Given the description of an element on the screen output the (x, y) to click on. 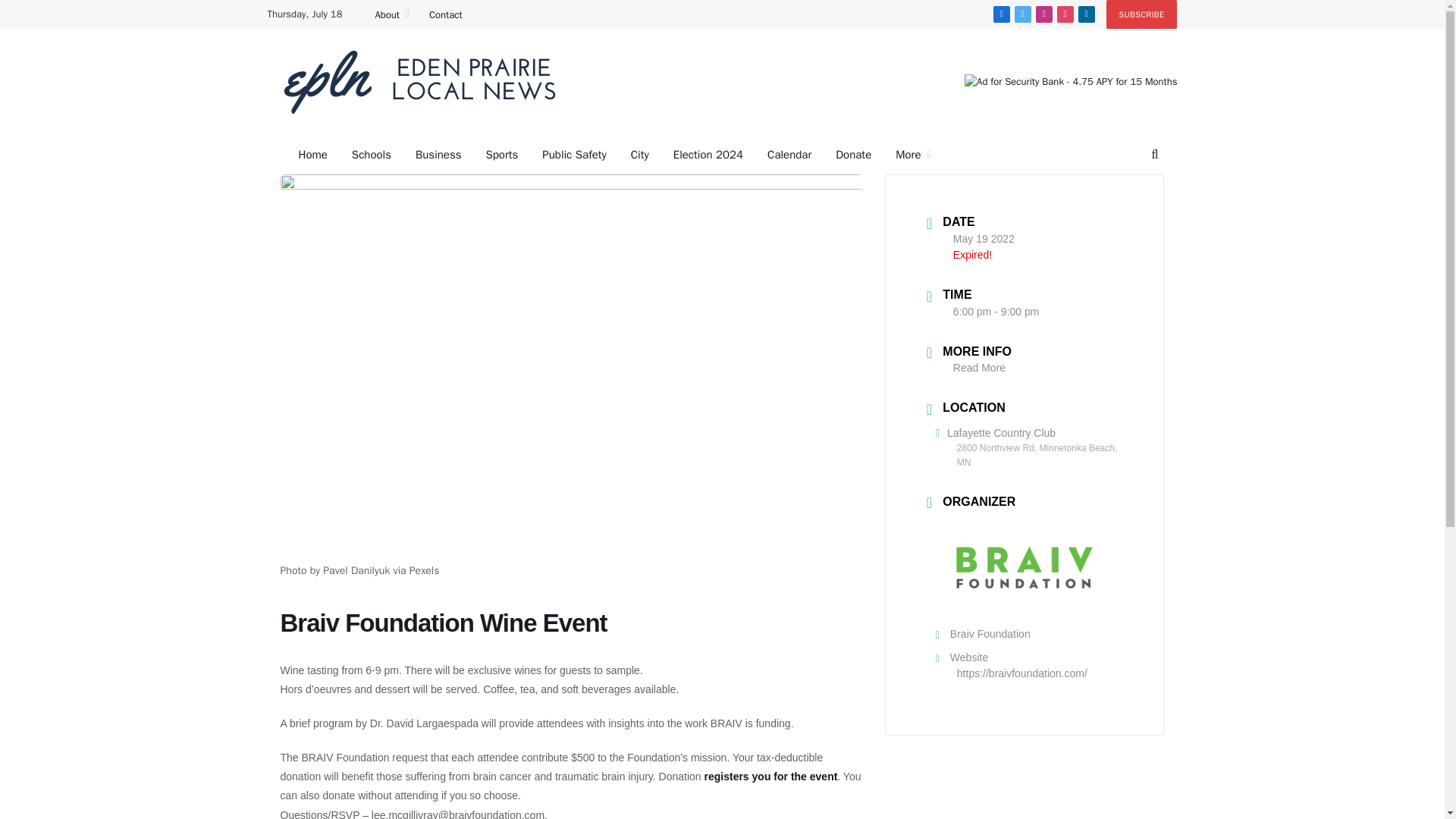
More (912, 154)
Contact (445, 14)
Calendar (789, 154)
Donate (853, 154)
Facebook (1001, 13)
Eden Prairie Local News (418, 81)
SUBSCRIBE (1141, 14)
Sports (501, 154)
LinkedIn (1086, 13)
Business (438, 154)
Election 2024 (708, 154)
About (392, 14)
Instagram (1043, 13)
Schools (371, 154)
Public Safety (573, 154)
